Given the description of an element on the screen output the (x, y) to click on. 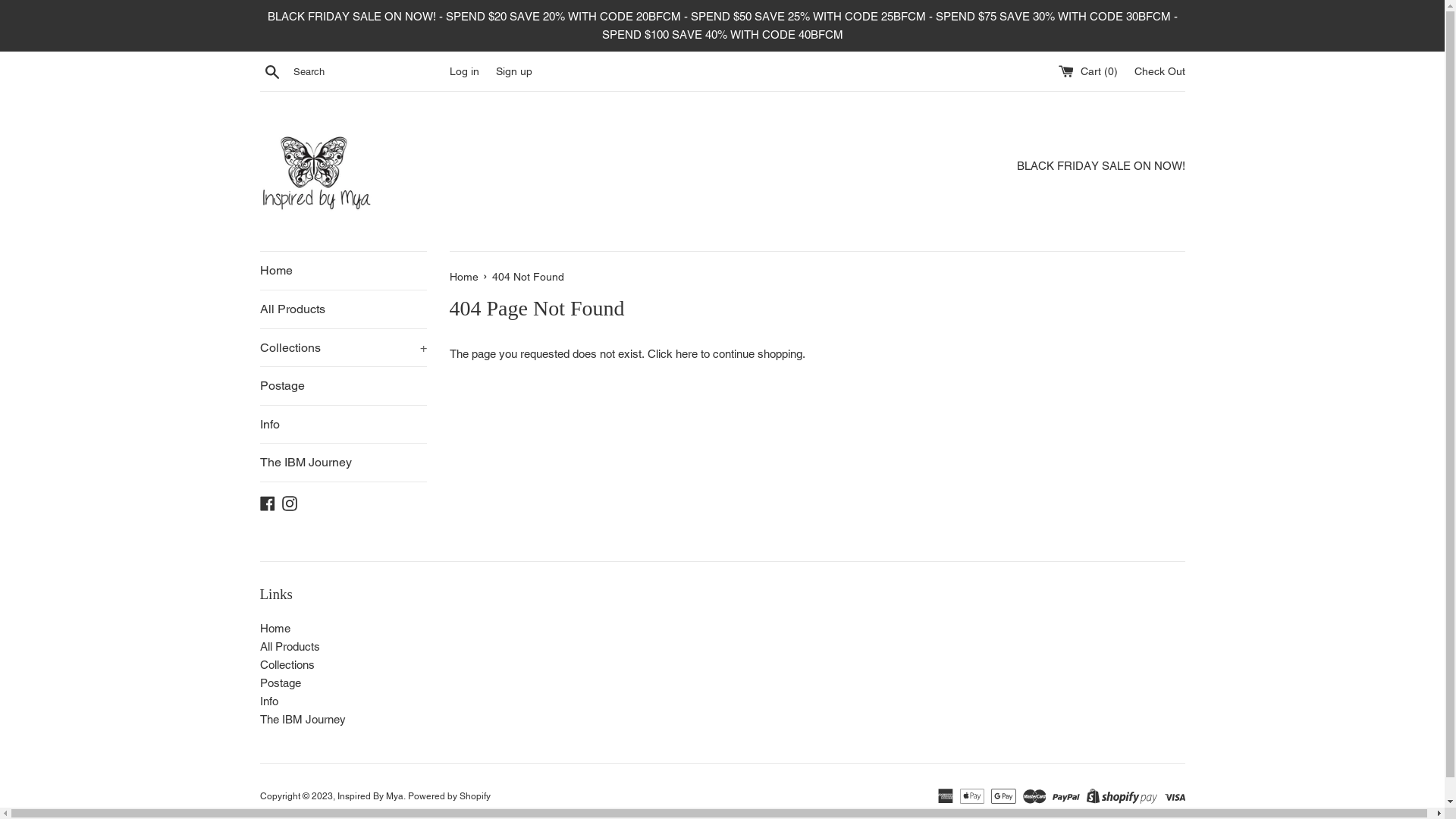
Powered by Shopify Element type: text (448, 795)
Home Element type: text (274, 627)
here Element type: text (685, 353)
Log in Element type: text (463, 71)
Inspired By Mya Element type: text (369, 795)
Home Element type: text (342, 270)
Postage Element type: text (279, 682)
Cart (0) Element type: text (1089, 71)
Check Out Element type: text (1159, 71)
All Products Element type: text (342, 309)
Collections
+ Element type: text (342, 348)
Search Element type: text (271, 70)
Instagram Element type: text (289, 501)
Facebook Element type: text (266, 501)
The IBM Journey Element type: text (302, 718)
Postage Element type: text (342, 385)
Info Element type: text (342, 424)
Sign up Element type: text (513, 71)
Home Element type: text (464, 276)
The IBM Journey Element type: text (342, 462)
Collections Element type: text (286, 664)
Info Element type: text (268, 700)
All Products Element type: text (289, 646)
